Given the description of an element on the screen output the (x, y) to click on. 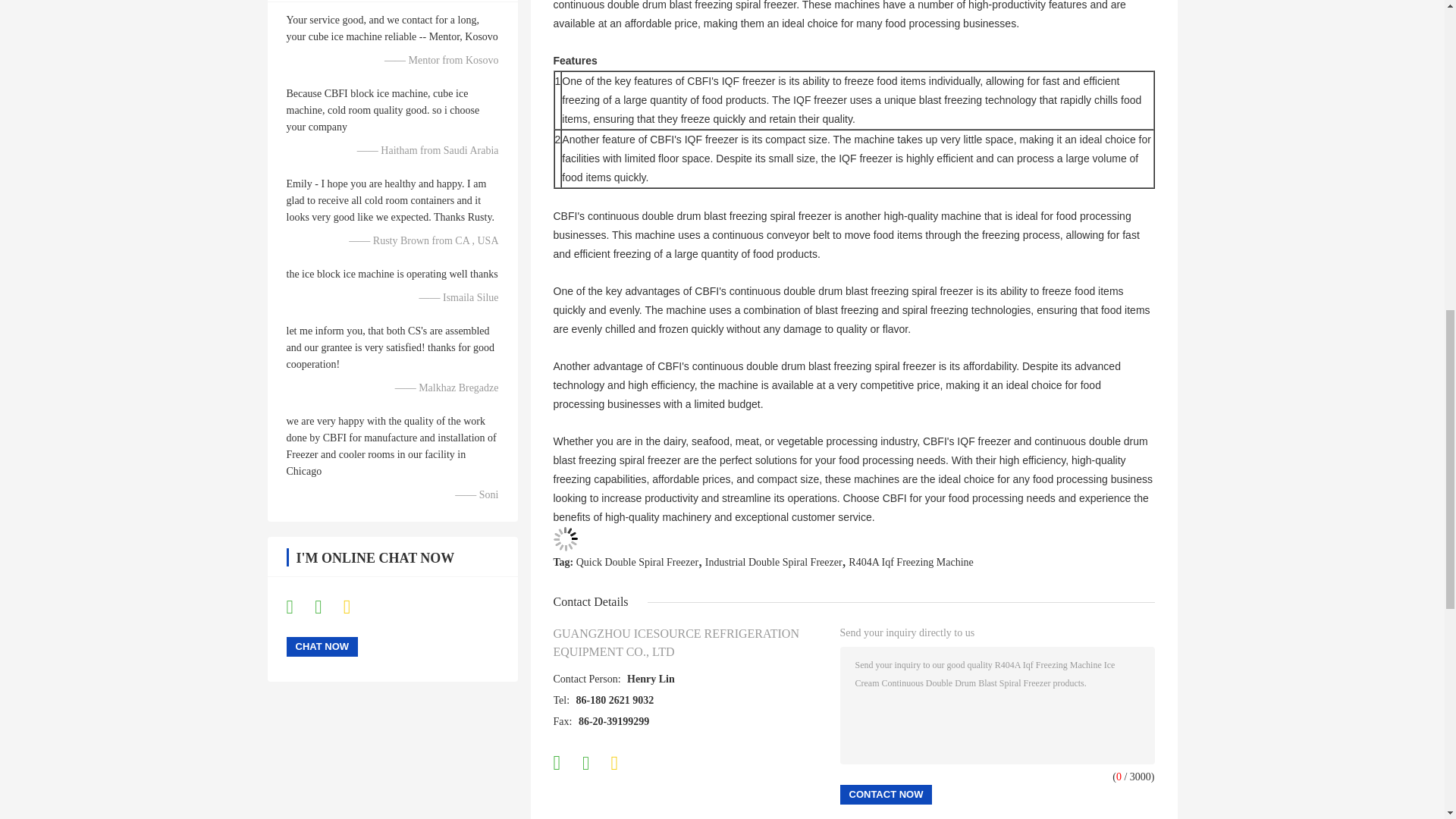
Chat Now (322, 646)
Contact Now (886, 794)
